Given the description of an element on the screen output the (x, y) to click on. 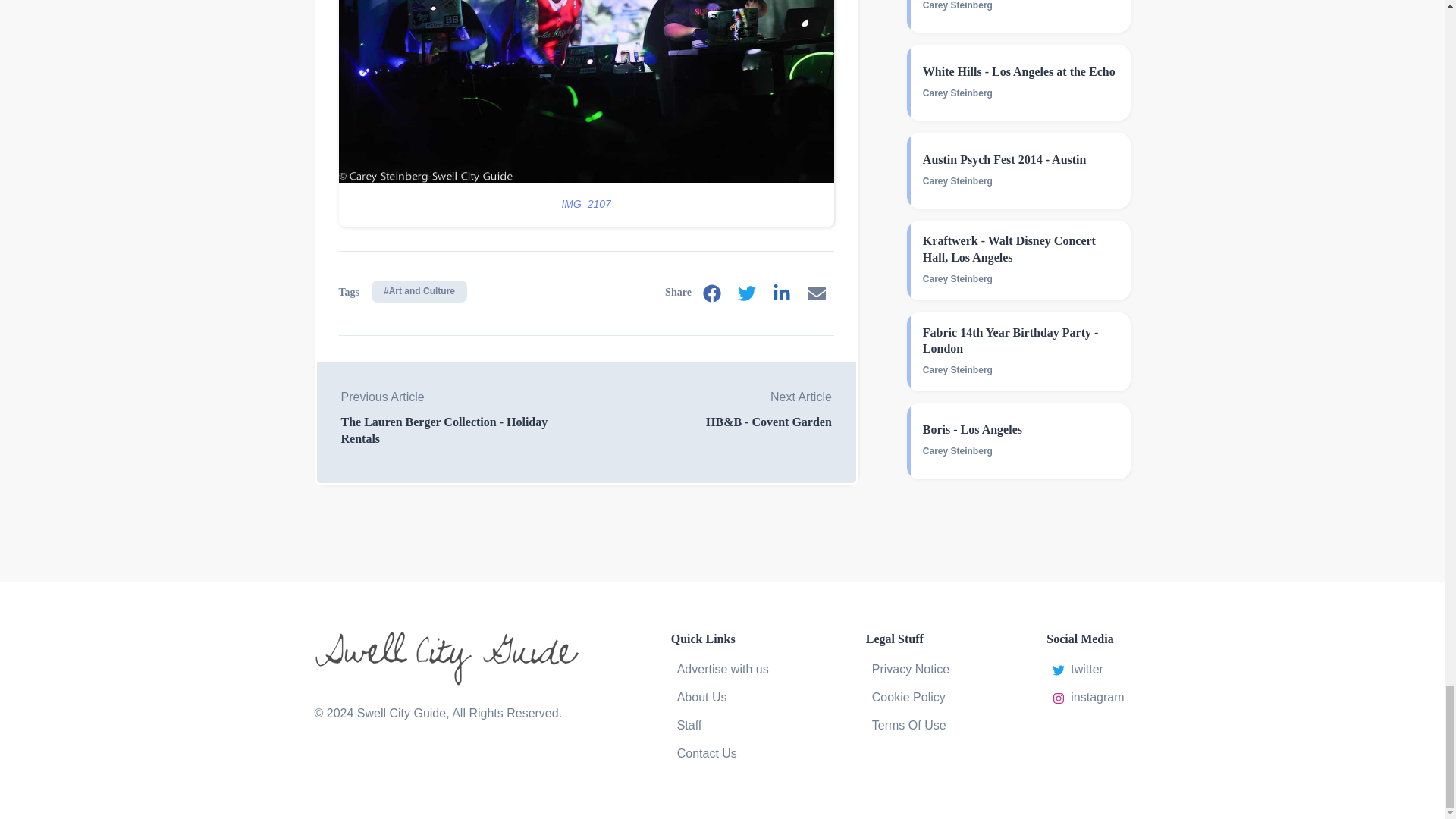
The Lauren Berger Collection - Holiday Rentals (463, 430)
